Given the description of an element on the screen output the (x, y) to click on. 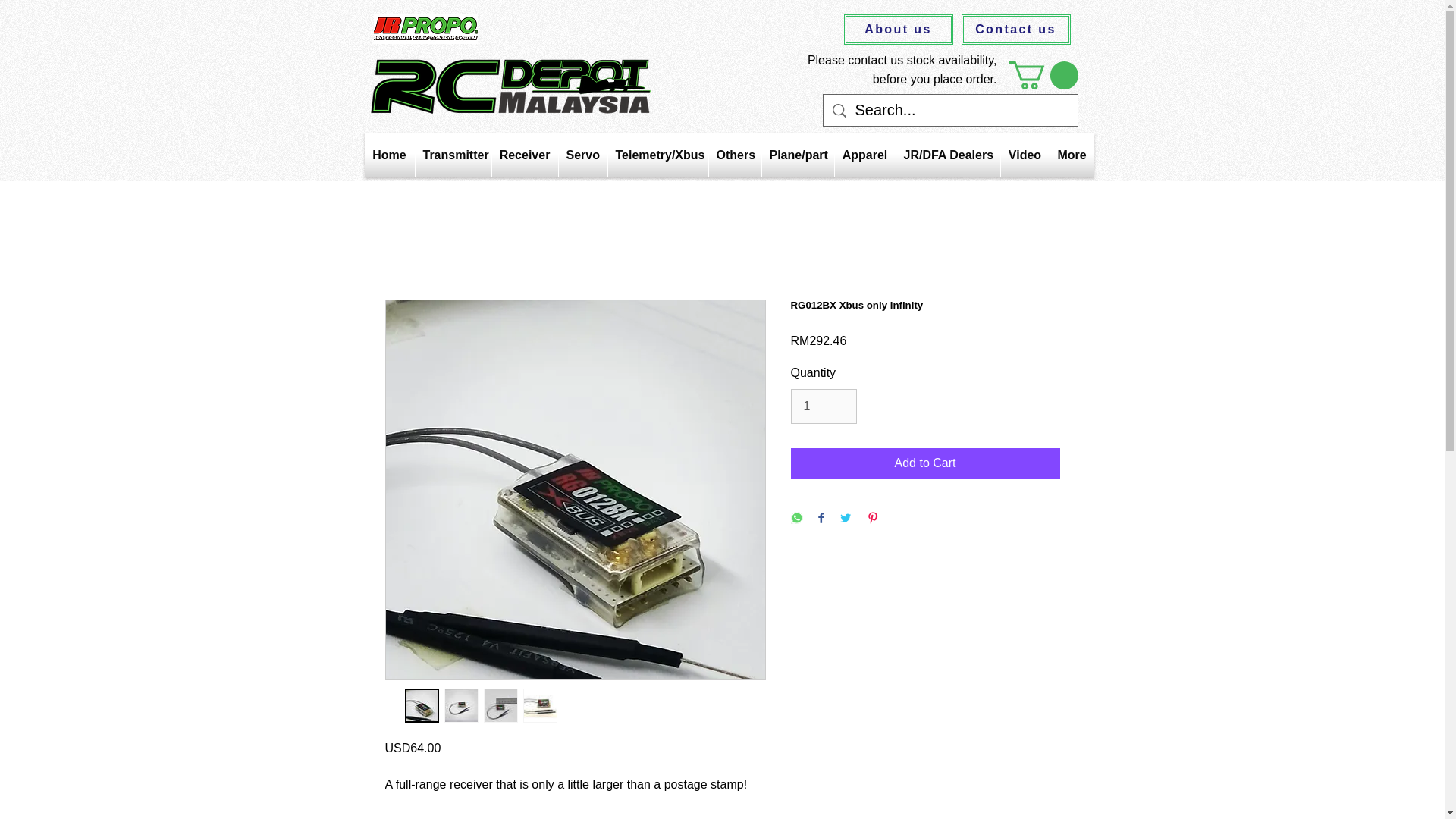
Contact us (1015, 29)
Transmitter (453, 154)
Home (388, 154)
Video (1025, 154)
Servo (582, 154)
Apparel (864, 154)
Receiver (524, 154)
About us (897, 29)
Add to Cart (924, 462)
1 (823, 406)
